Given the description of an element on the screen output the (x, y) to click on. 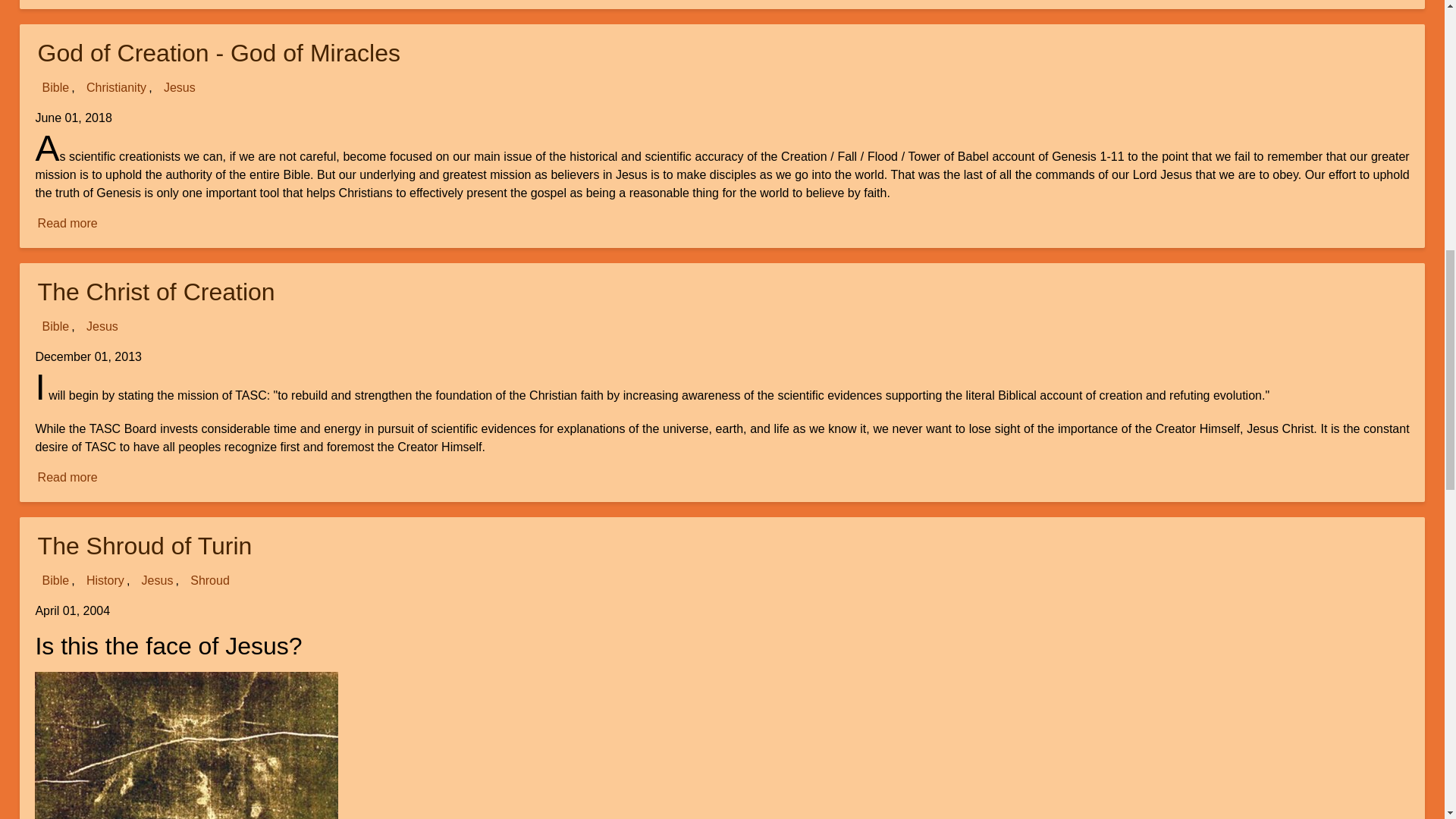
Bible (55, 87)
God of Creation - God of Miracles (218, 52)
Jesus (179, 87)
Bible (55, 579)
The Shroud of Turin (67, 222)
History (67, 477)
Jesus (143, 545)
Bible (105, 579)
